Given the description of an element on the screen output the (x, y) to click on. 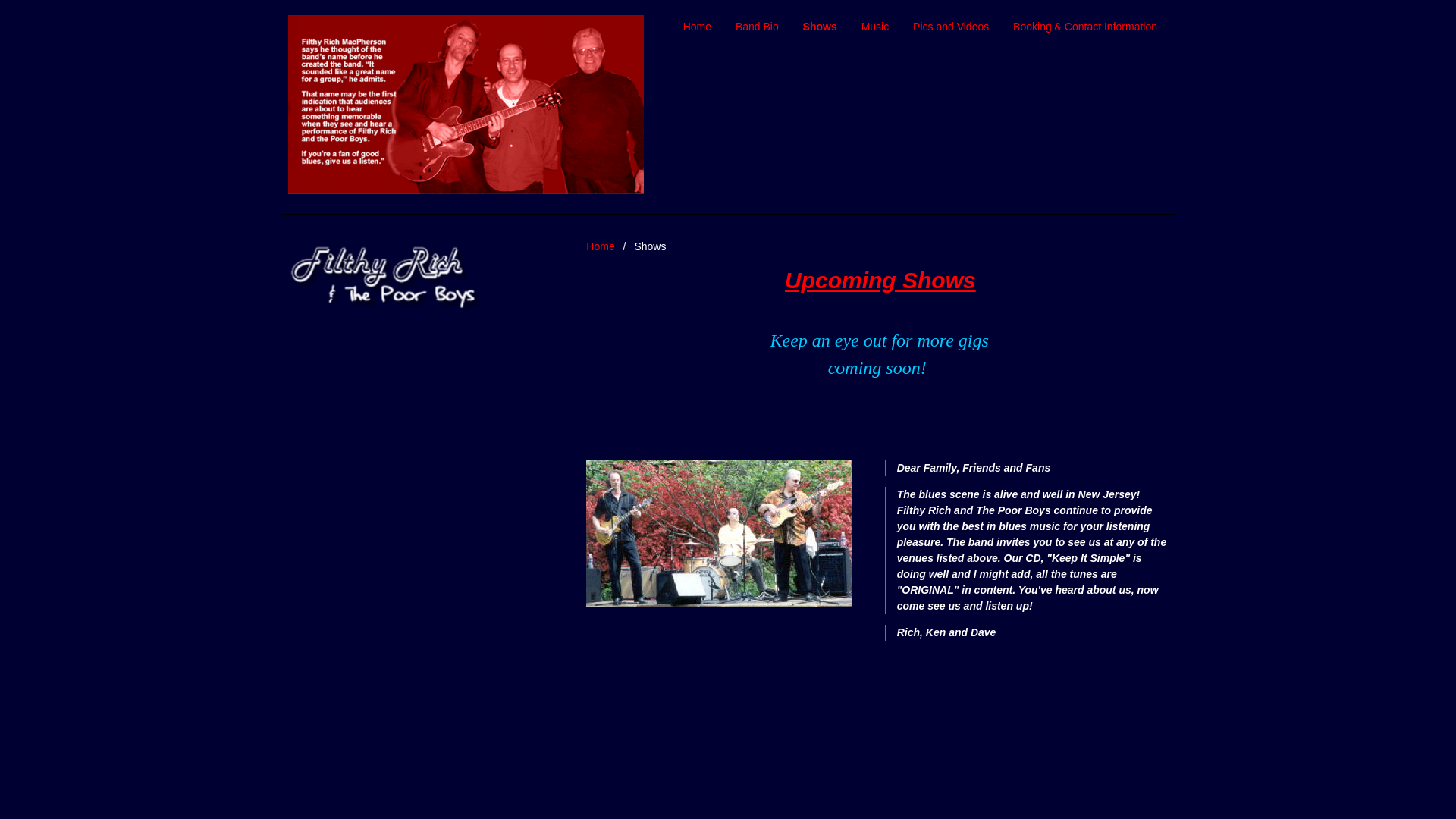
Music Element type: text (875, 26)
Home Element type: text (600, 246)
Booking & Contact Information Element type: text (1084, 26)
Pics and Videos Element type: text (950, 26)
Shows Element type: text (819, 26)
Band Bio Element type: text (756, 26)
Home Element type: text (696, 26)
